Given the description of an element on the screen output the (x, y) to click on. 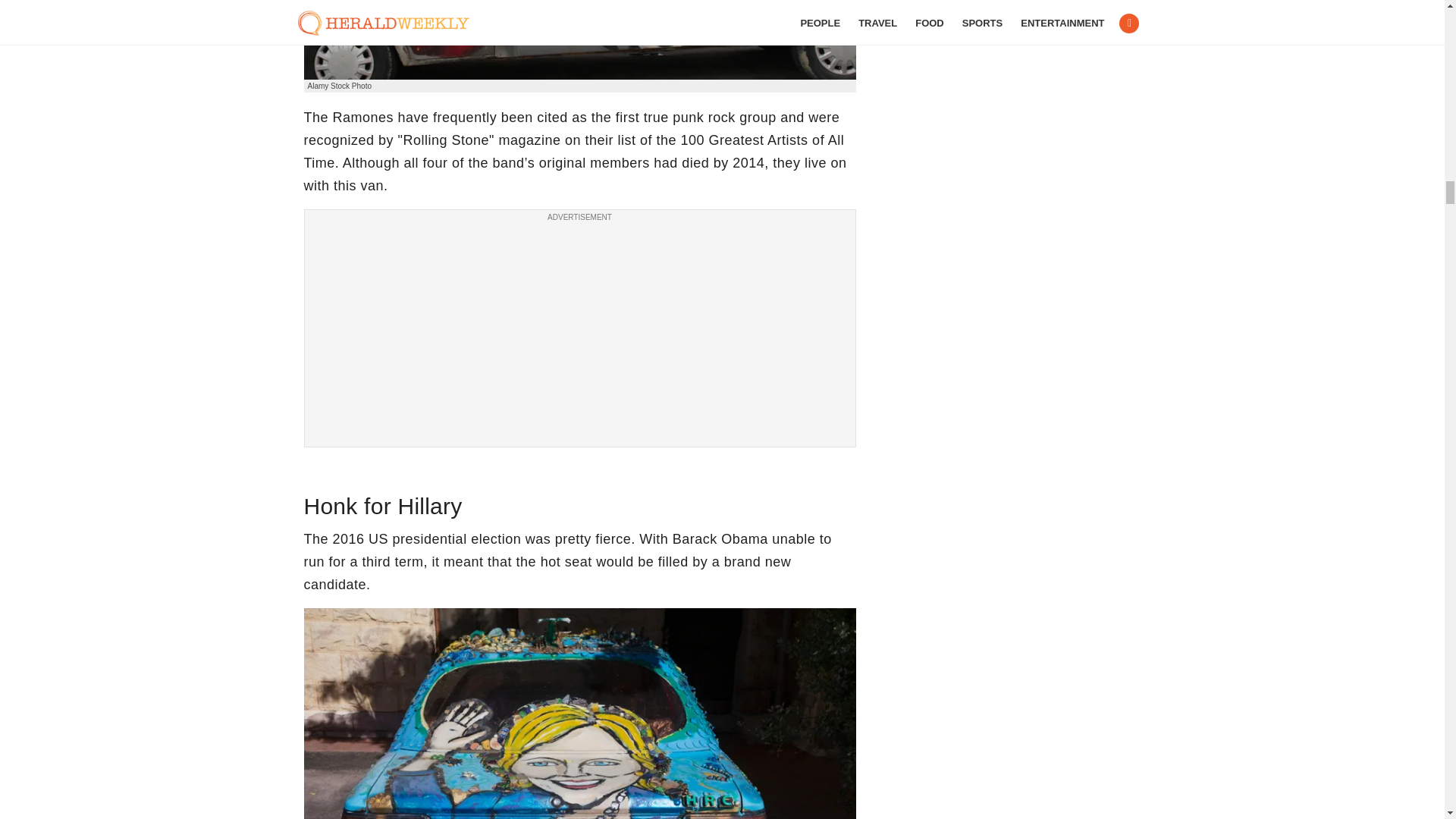
Roaming Ramones (579, 39)
Honk for Hillary (579, 713)
